Given the description of an element on the screen output the (x, y) to click on. 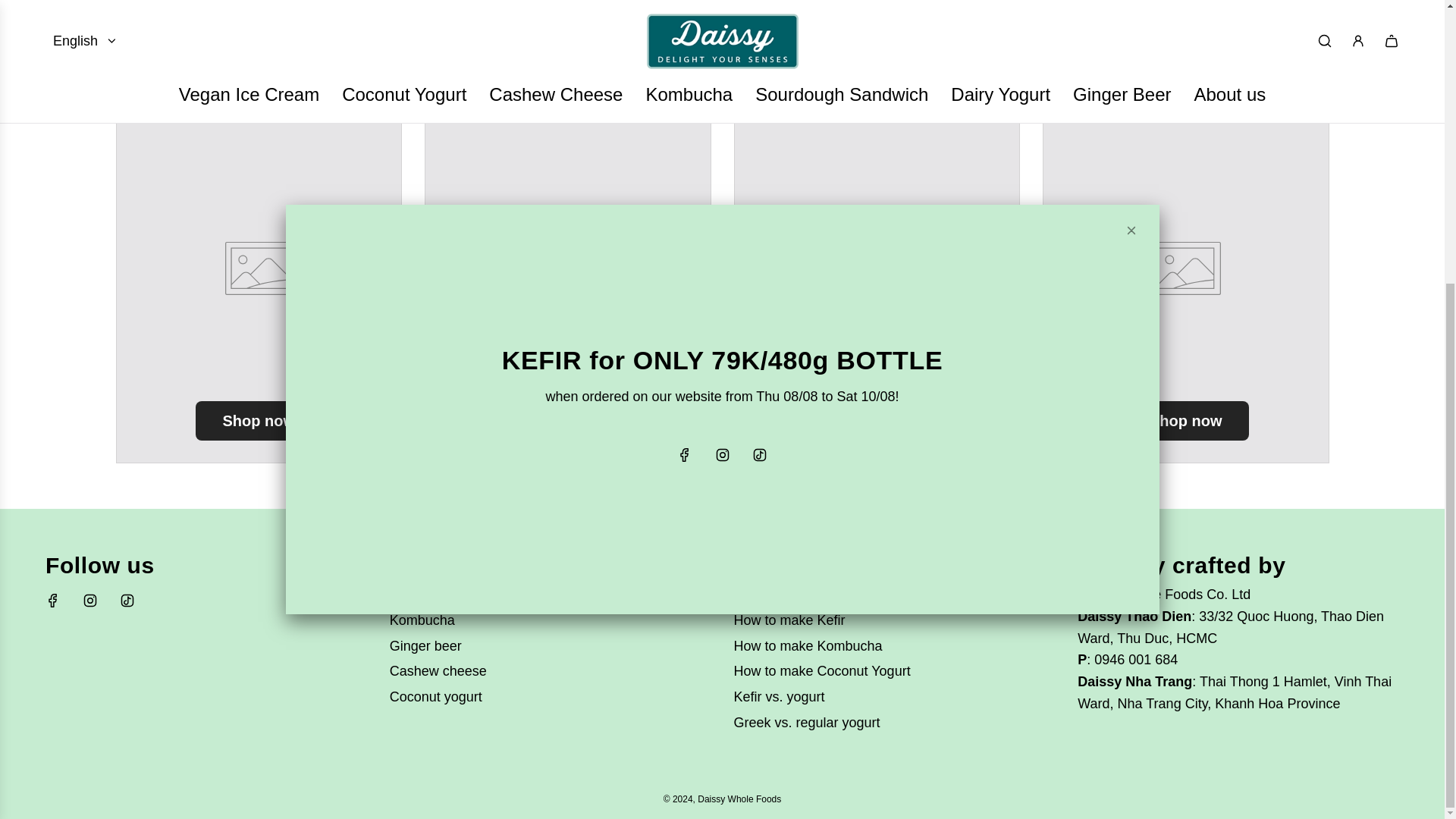
Nha Trang Headquarters (1134, 681)
